Given the description of an element on the screen output the (x, y) to click on. 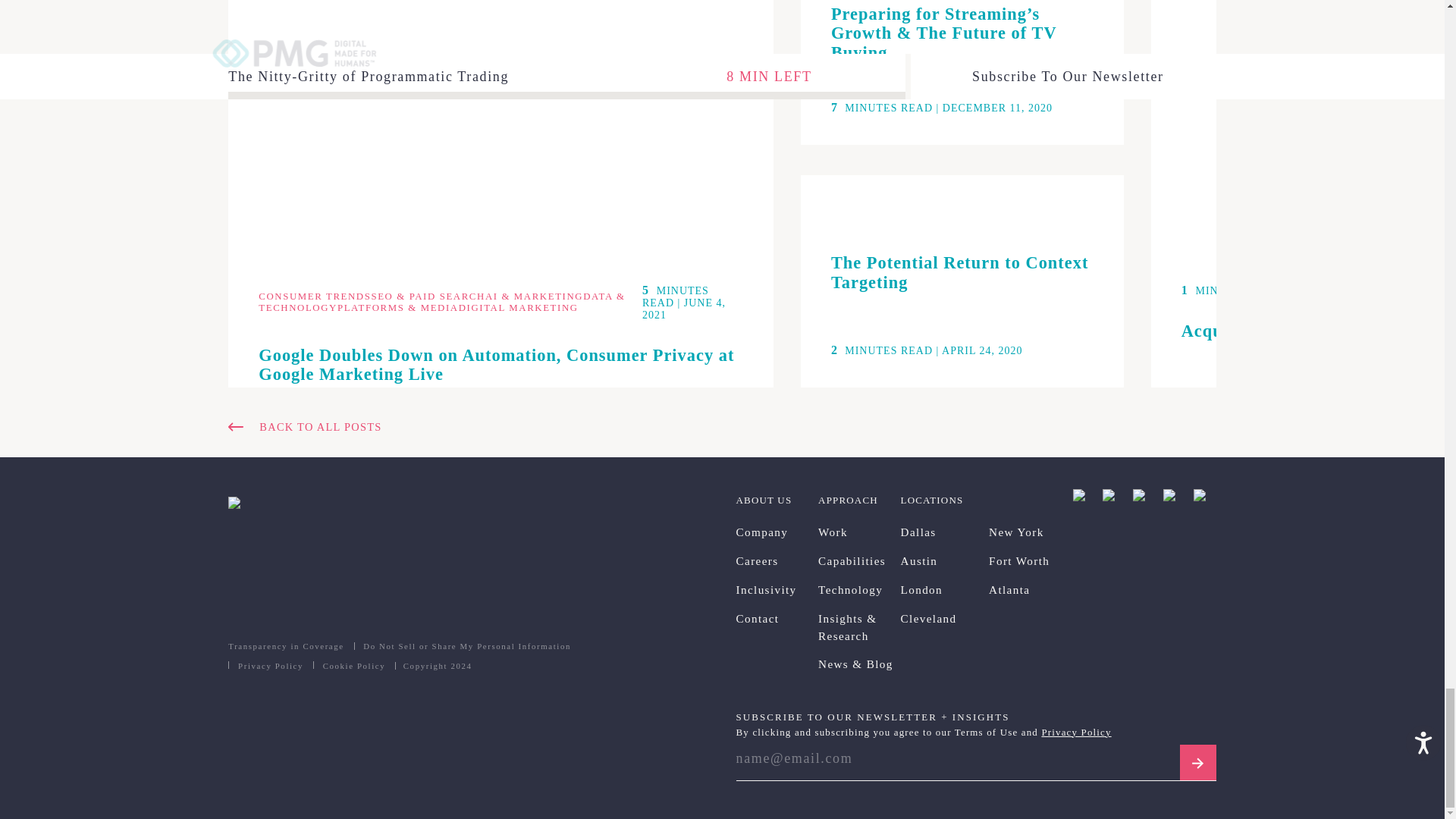
BACK TO ALL POSTS (721, 426)
The Potential Return to Context Targeting (962, 274)
Submit (1197, 762)
The Potential Return to Context Targeting (962, 274)
